Given the description of an element on the screen output the (x, y) to click on. 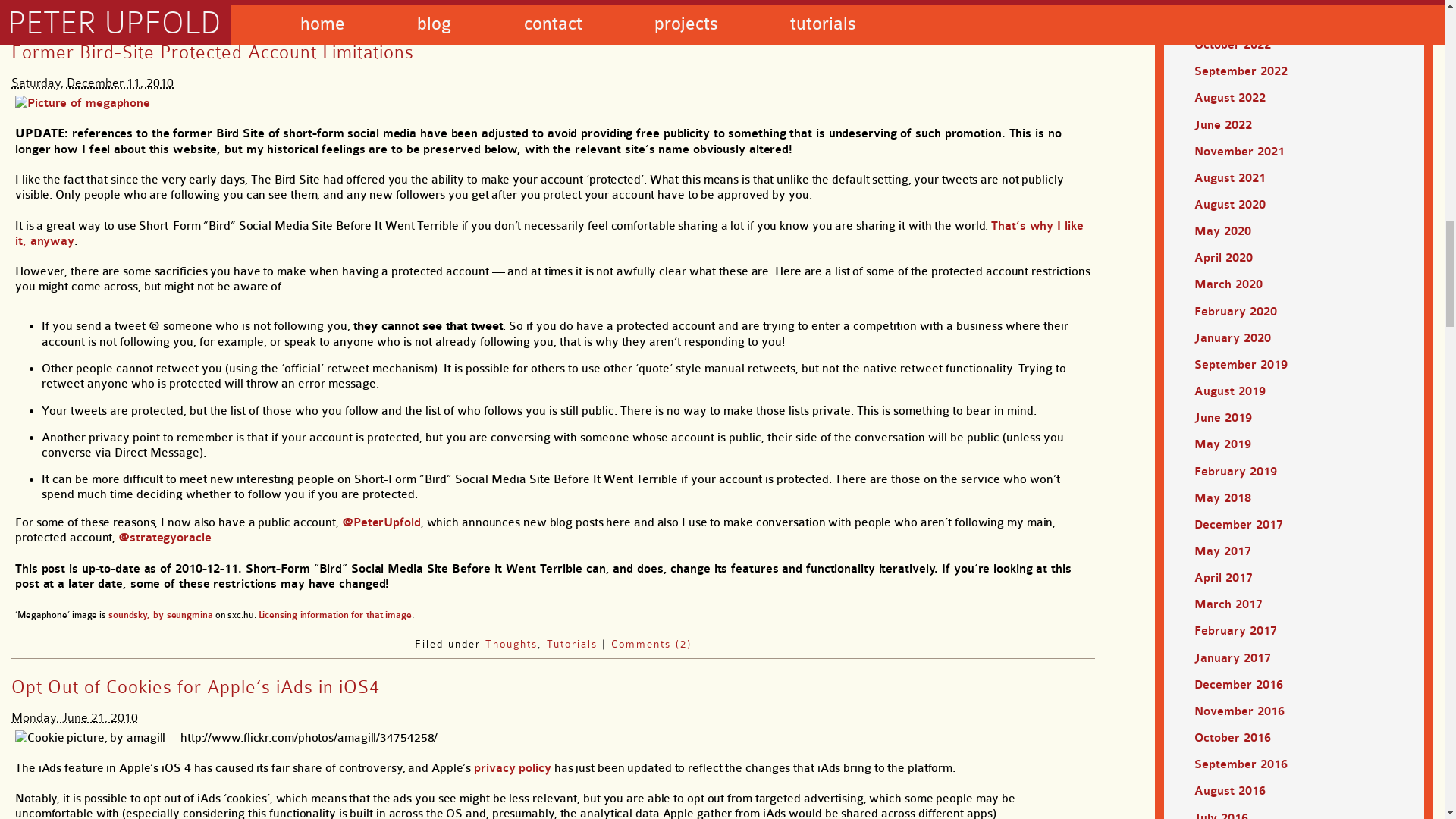
Mac (510, 9)
Thoughts (510, 644)
Former Bird-Site Protected Account Limitations (212, 52)
Tutorials (557, 9)
Tutorials (571, 644)
Licensing information for that image (335, 614)
Picture of megaphone (81, 102)
soundsky, by seungmina (159, 614)
